Given the description of an element on the screen output the (x, y) to click on. 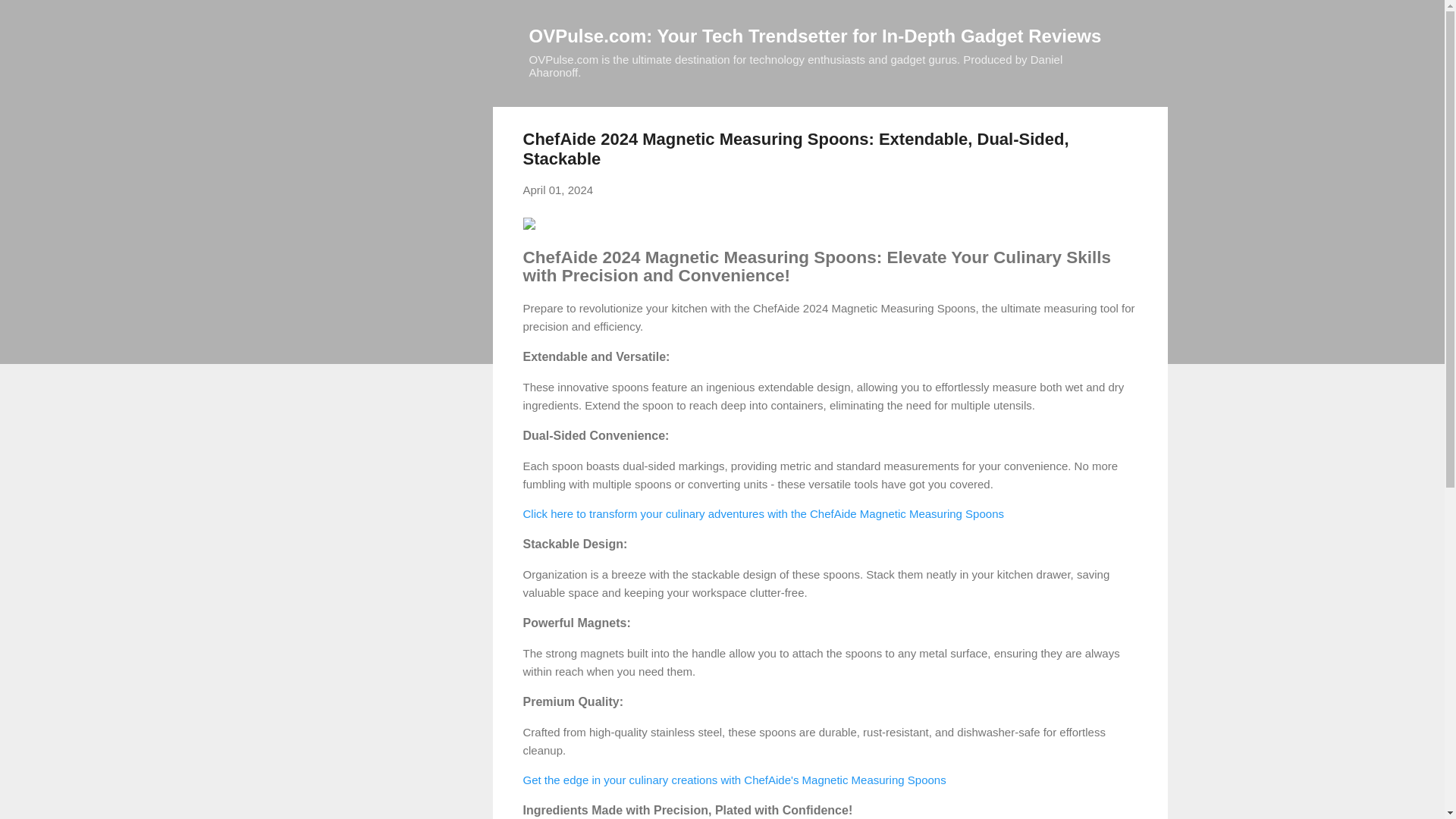
permanent link (558, 189)
April 01, 2024 (558, 189)
Search (29, 18)
